Given the description of an element on the screen output the (x, y) to click on. 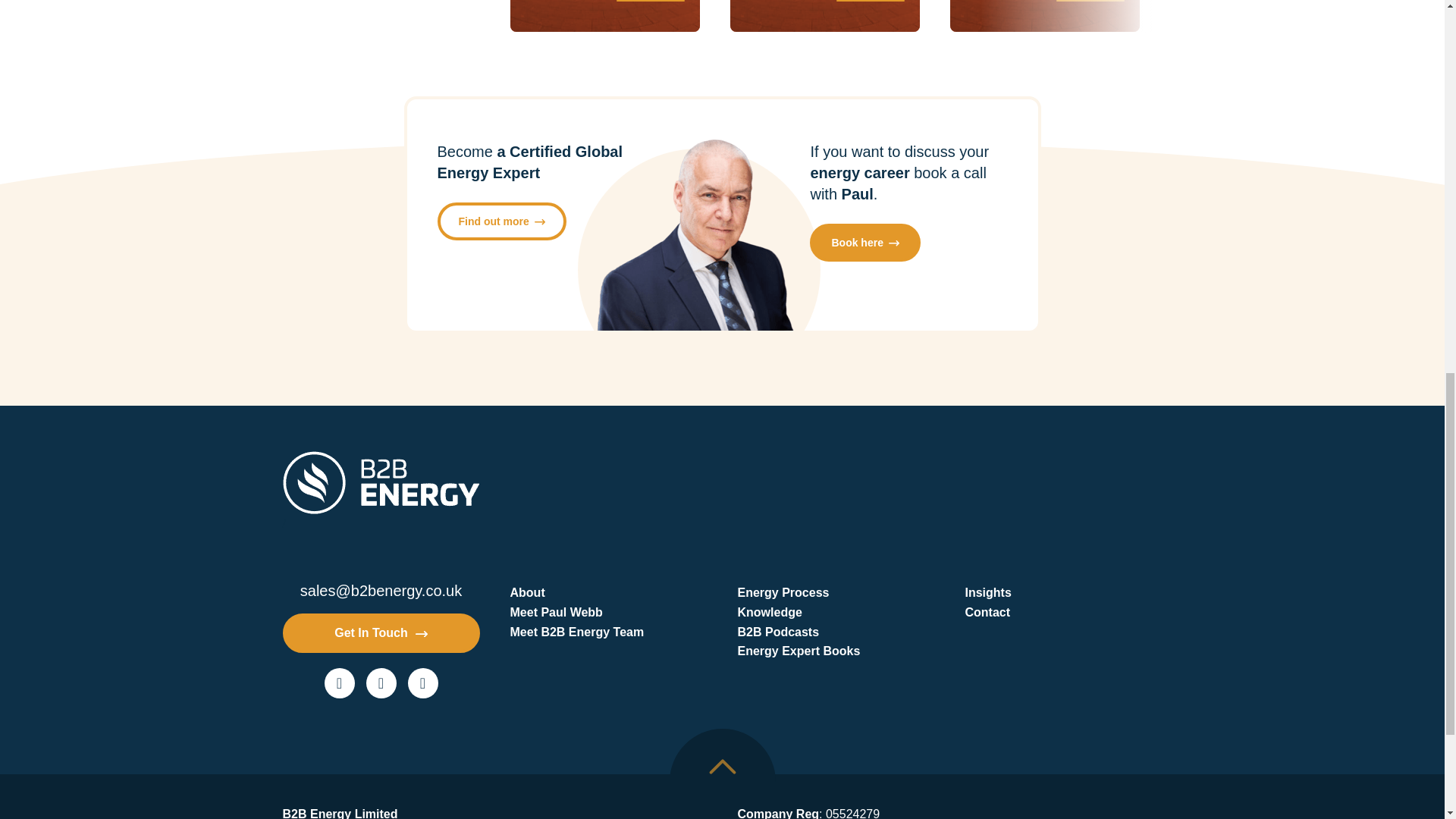
Back to top (721, 773)
About (607, 592)
Meet Paul Webb (607, 612)
Back to top (721, 766)
Meet B2B Energy Team (607, 632)
